Given the description of an element on the screen output the (x, y) to click on. 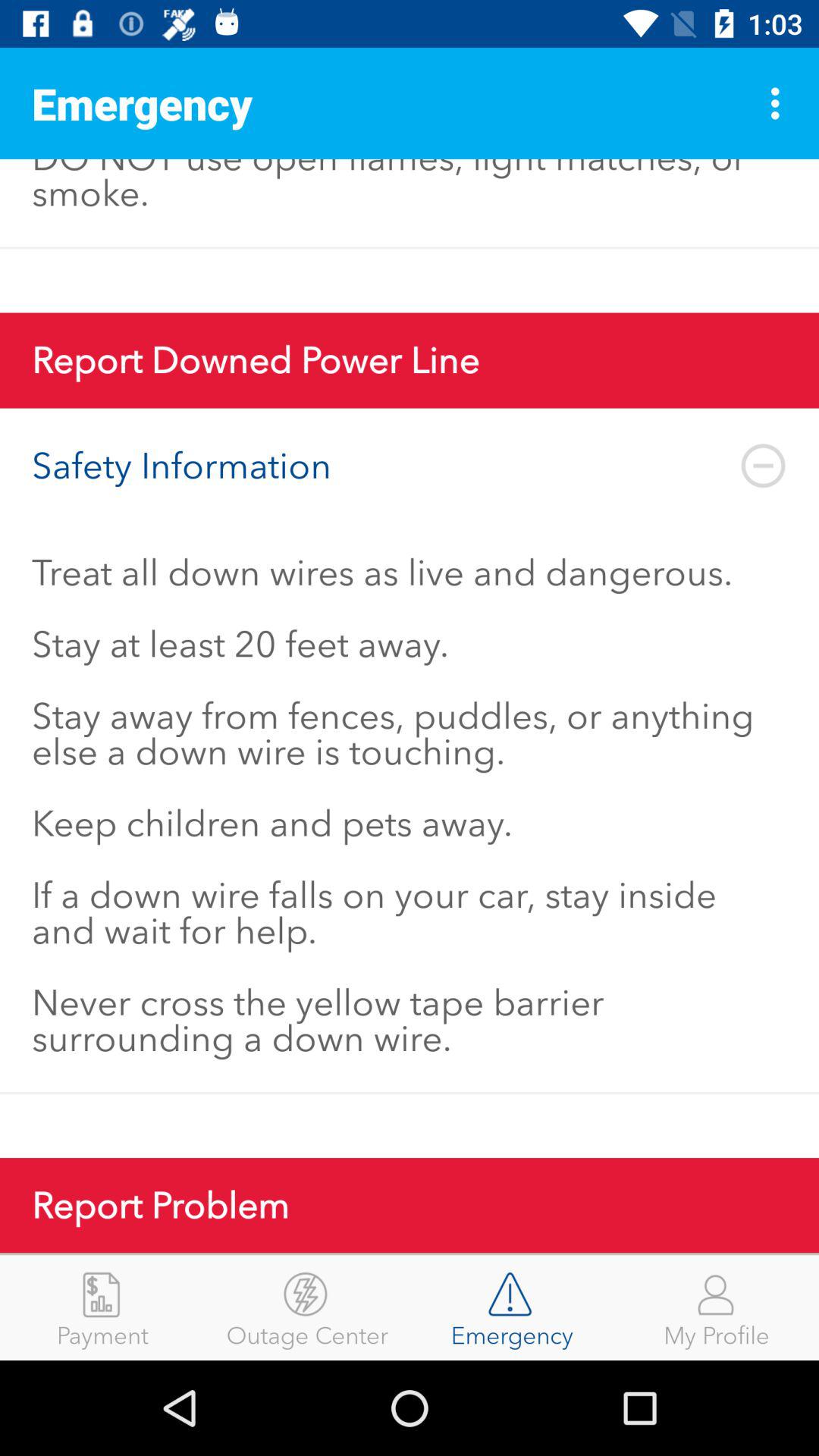
turn on the icon to the right of emergency (779, 103)
